Given the description of an element on the screen output the (x, y) to click on. 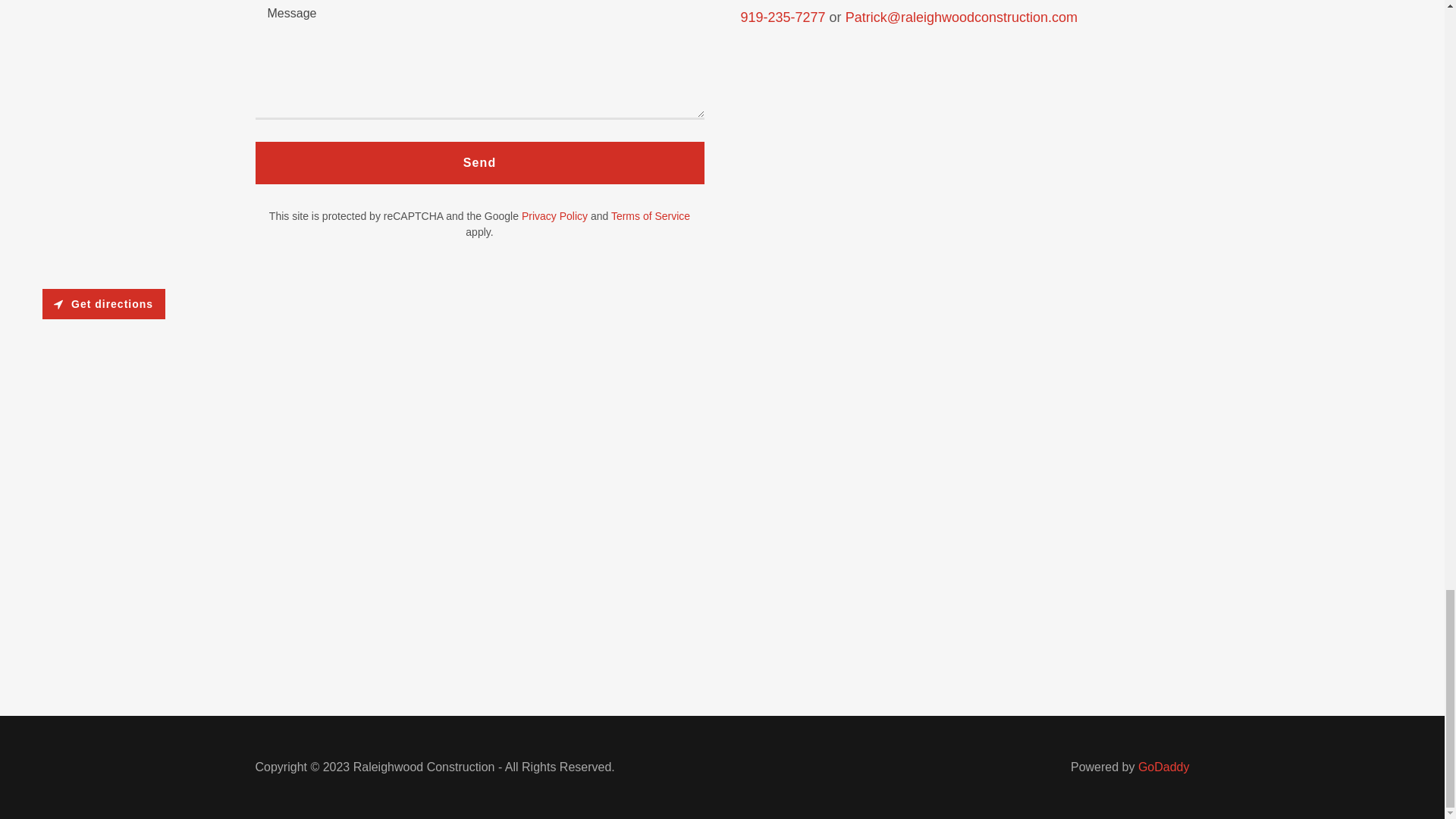
Privacy Policy (554, 215)
Get directions (103, 304)
919-235-7277 (782, 17)
Terms of Service (650, 215)
Send (478, 162)
GoDaddy (1163, 766)
